Given the description of an element on the screen output the (x, y) to click on. 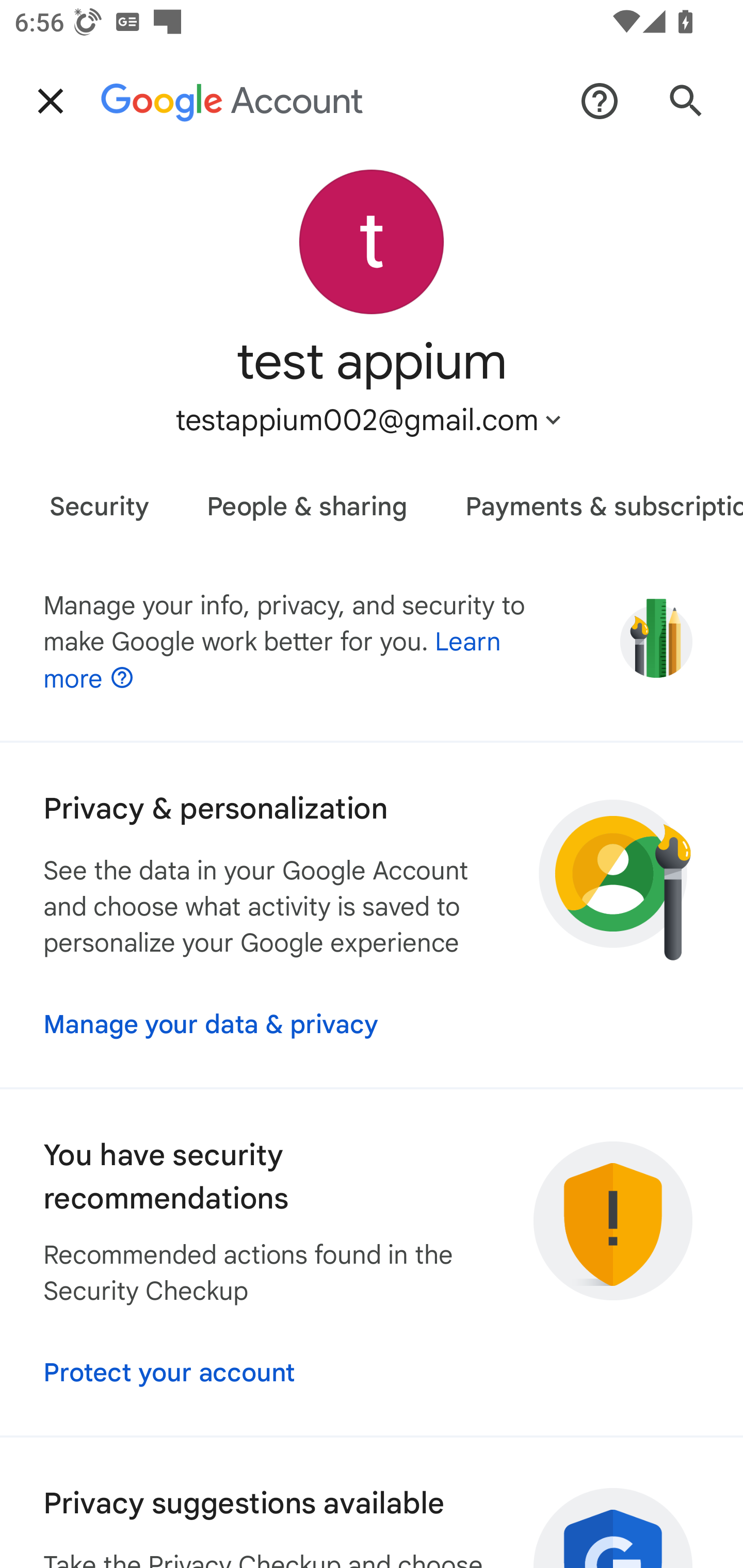
Close (50, 101)
Help (599, 101)
Search (685, 101)
Security (99, 499)
People & sharing (307, 499)
Payments & subscriptions (589, 499)
